Given the description of an element on the screen output the (x, y) to click on. 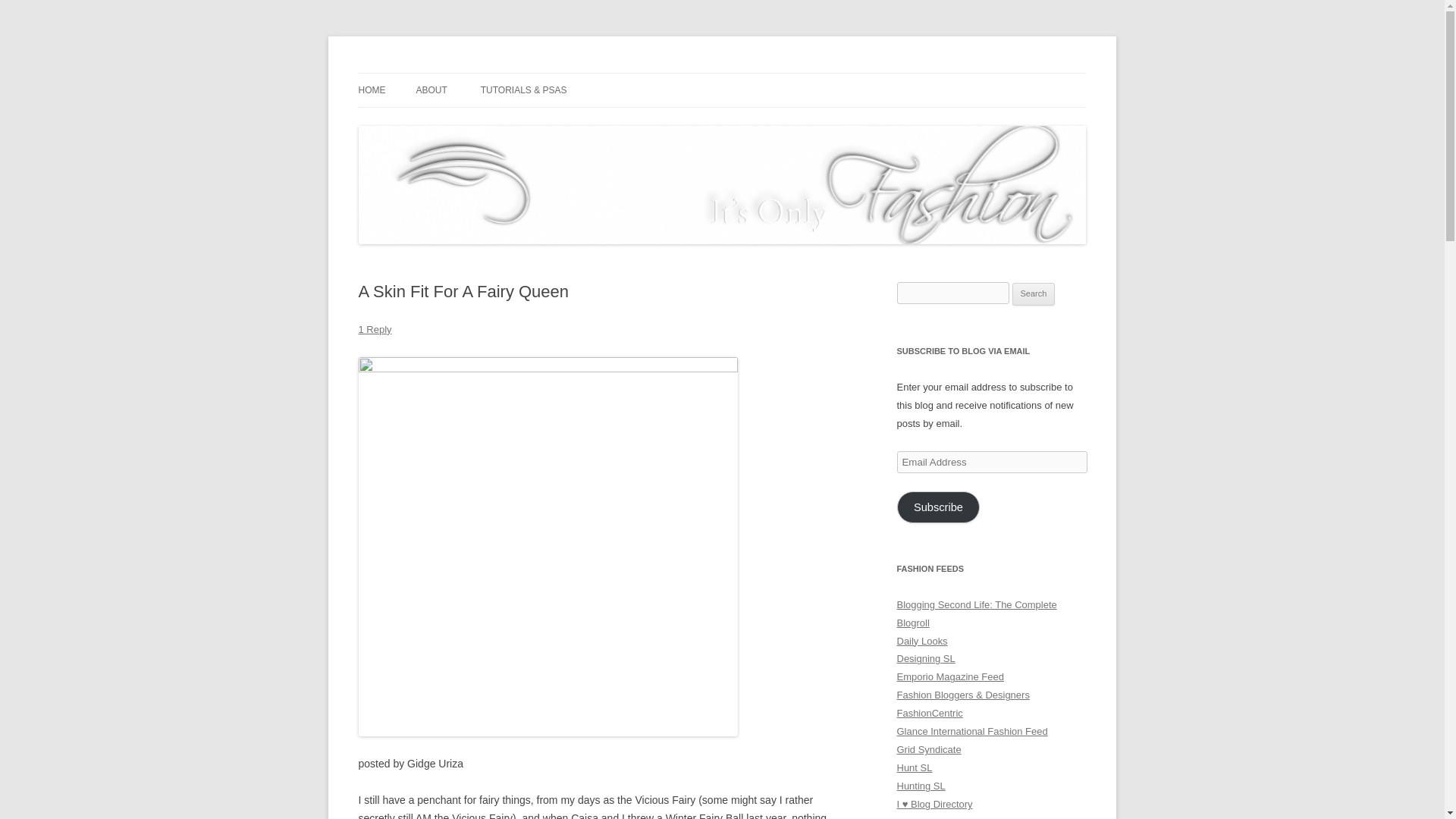
Daily Looks (921, 641)
1 Reply (374, 328)
Designing SL (925, 658)
ABOUT (430, 90)
Search (1033, 293)
FashionCentric (929, 713)
Search (1033, 293)
Emporio Magazine Feed (949, 676)
Its Only Fashion (434, 72)
